Given the description of an element on the screen output the (x, y) to click on. 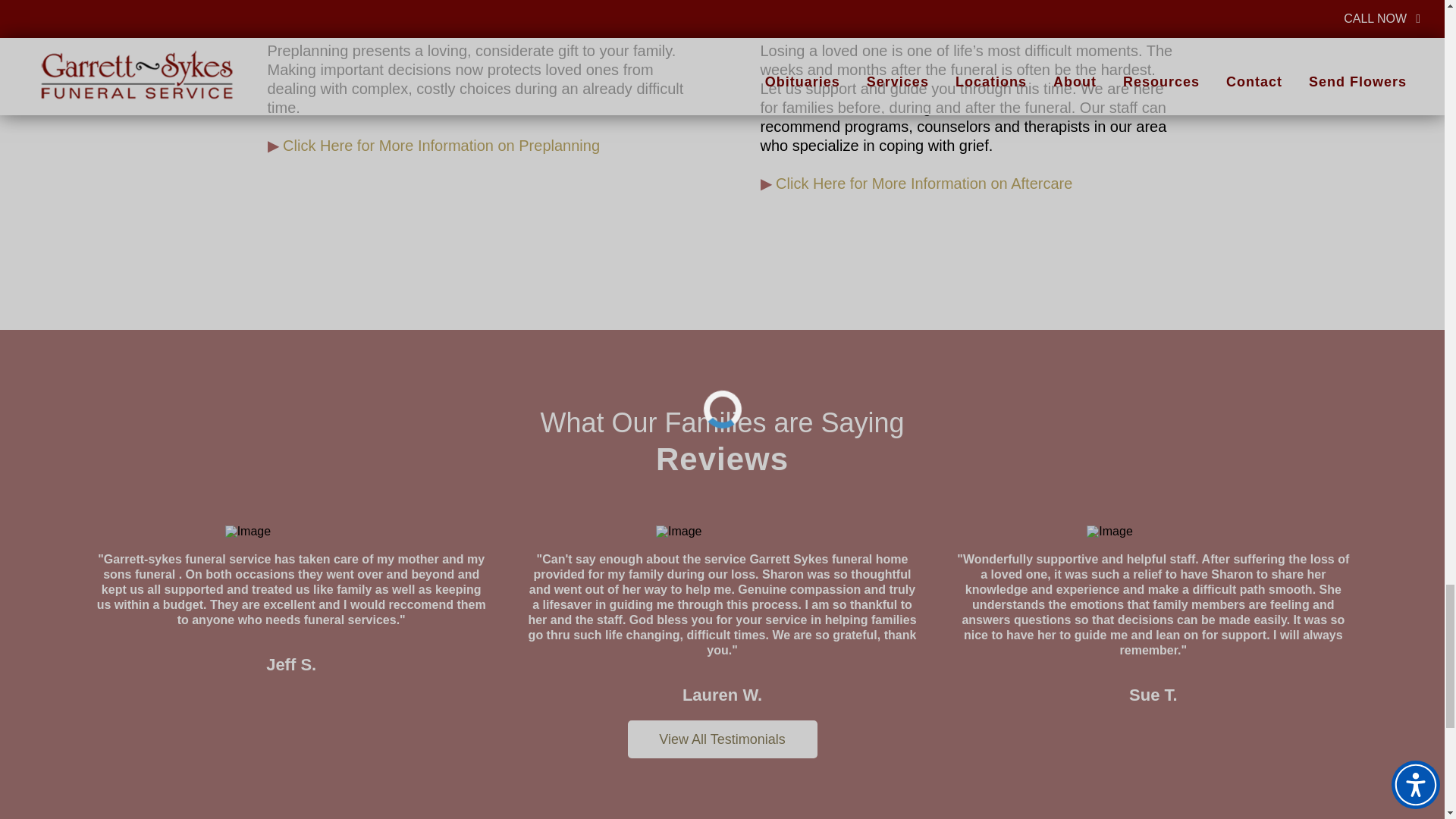
Image Title (722, 533)
Image Title (1153, 533)
View All Testimonials (721, 739)
Click Here for More Information on Preplanning (440, 145)
Click Here for More Information on Aftercare (923, 183)
Image Title (291, 533)
